Given the description of an element on the screen output the (x, y) to click on. 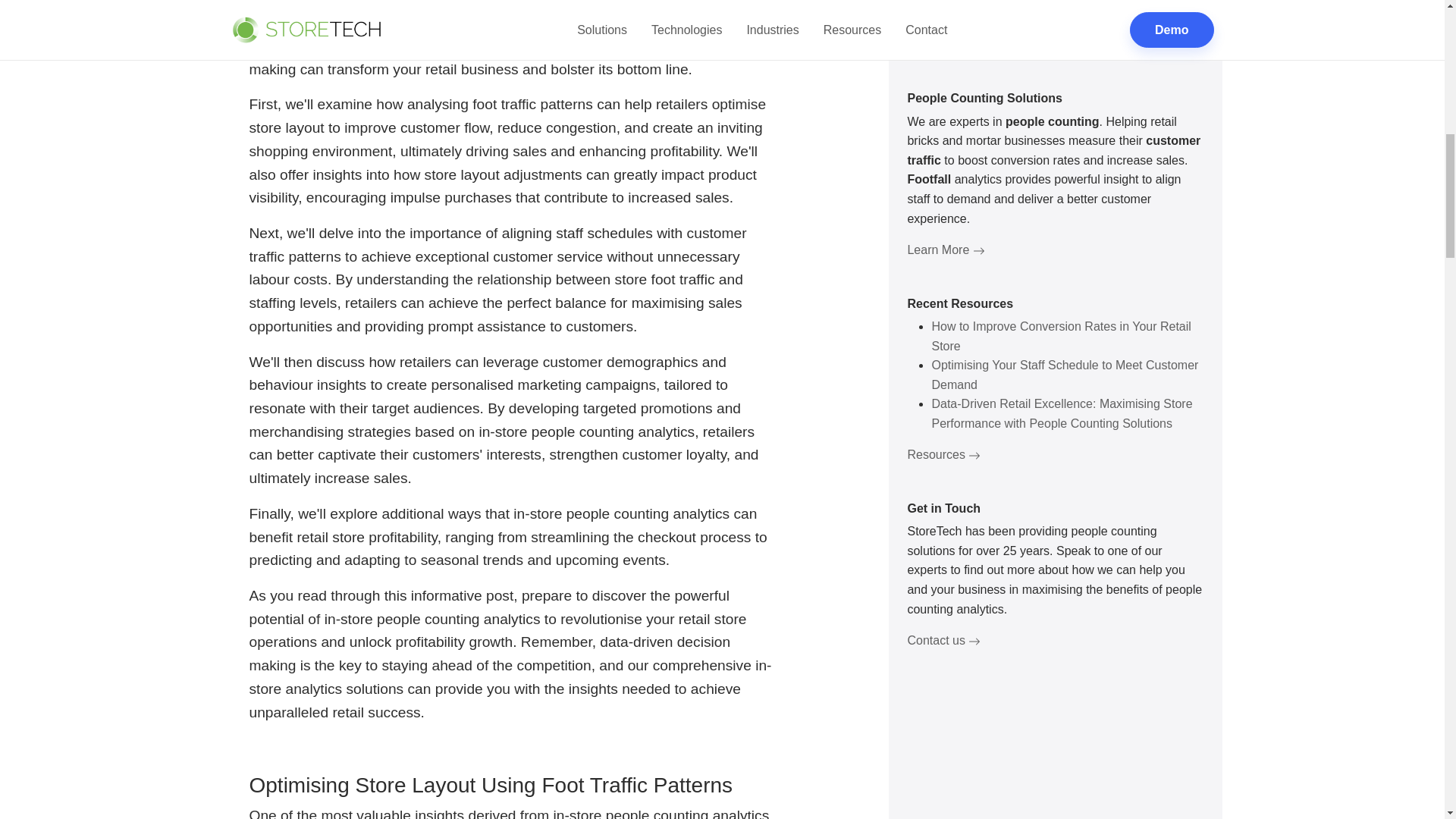
Contact us  (943, 285)
Resources  (943, 99)
Optimising Your Staff Schedule to Meet Customer Demand (1064, 20)
